Given the description of an element on the screen output the (x, y) to click on. 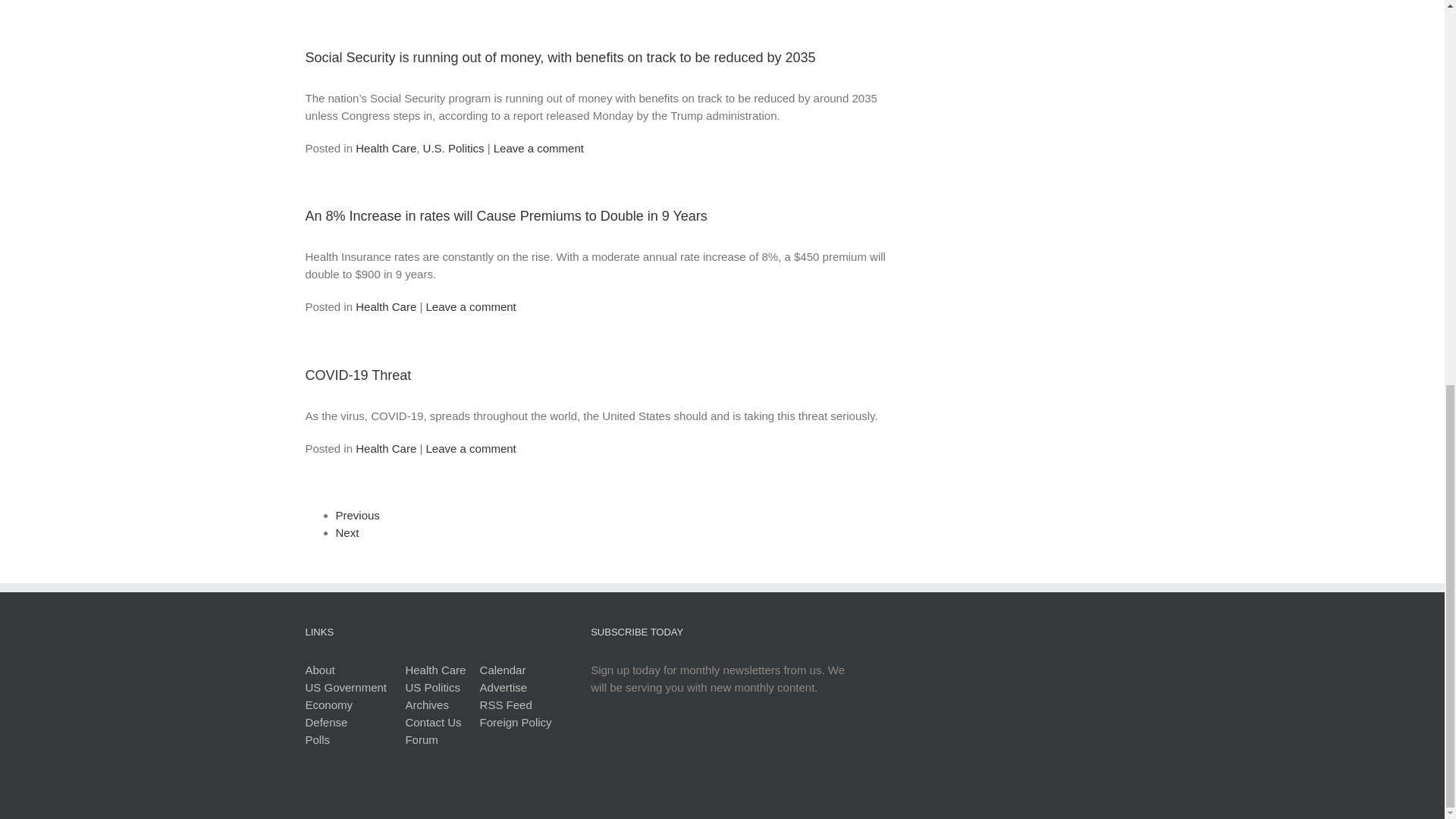
U.S. Politics (453, 147)
Leave a comment (471, 306)
Health Care (385, 448)
Leave a comment (471, 448)
COVID-19 Threat (357, 374)
Health Care (385, 306)
Health Care (385, 147)
Leave a comment (538, 147)
